Given the description of an element on the screen output the (x, y) to click on. 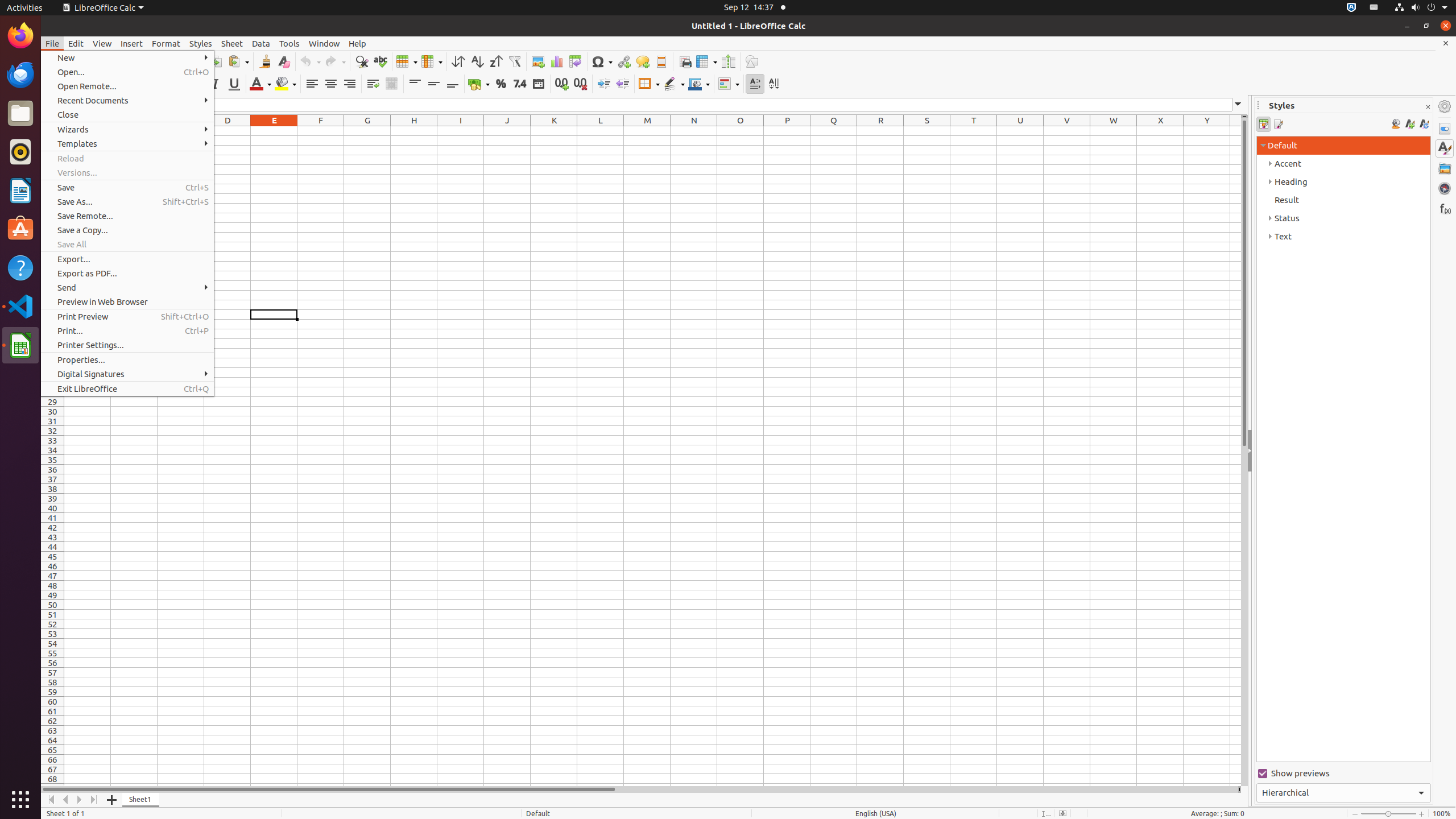
Borders (Shift to overwrite) Element type: push-button (648, 83)
Currency Element type: push-button (478, 83)
File Element type: menu (51, 43)
T1 Element type: table-cell (973, 130)
L1 Element type: table-cell (600, 130)
